Given the description of an element on the screen output the (x, y) to click on. 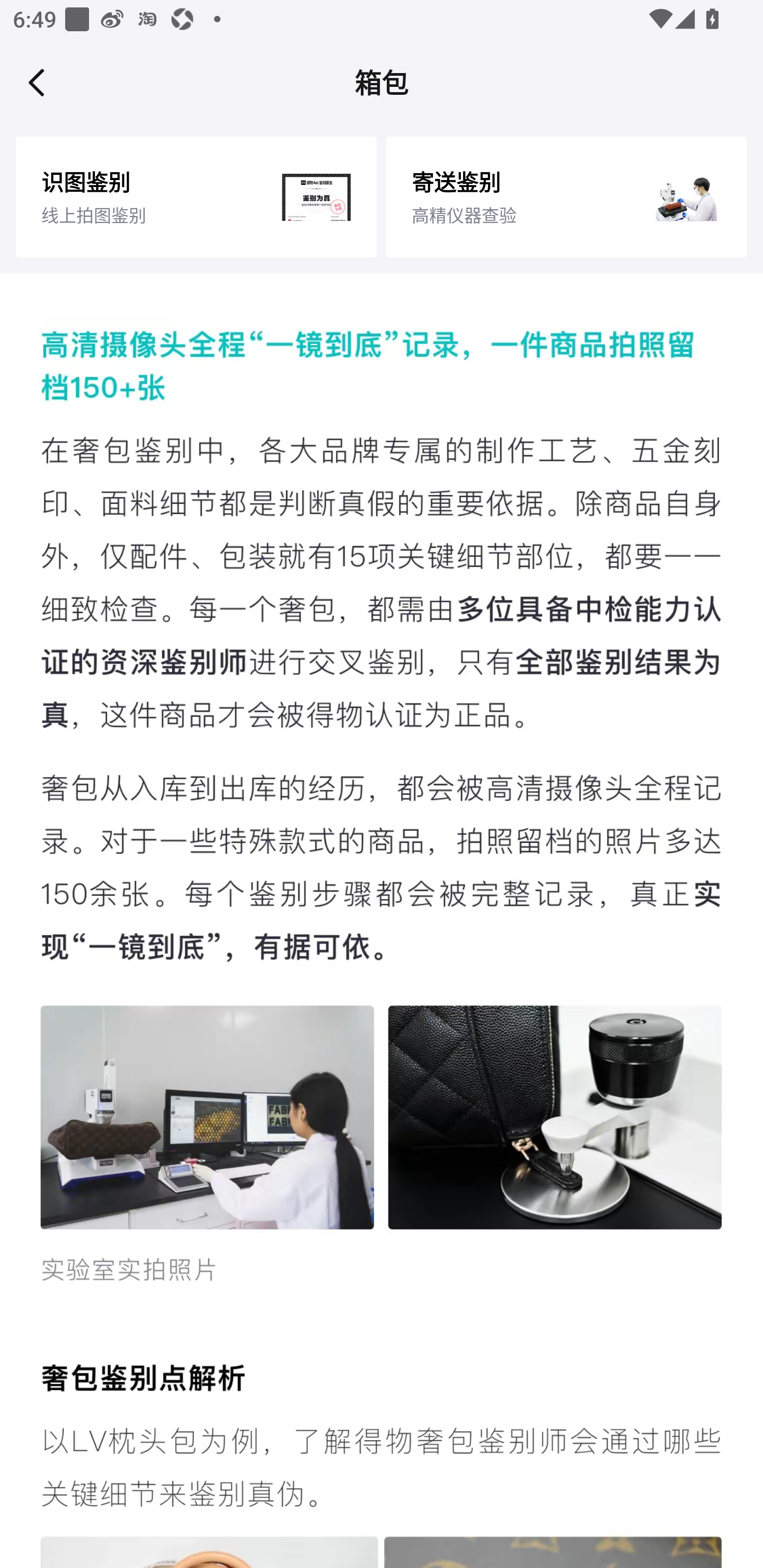
Navigate up (36, 82)
识图鉴别 线上拍图鉴别 (196, 196)
寄送鉴别 高精仪器查验 (566, 196)
